Given the description of an element on the screen output the (x, y) to click on. 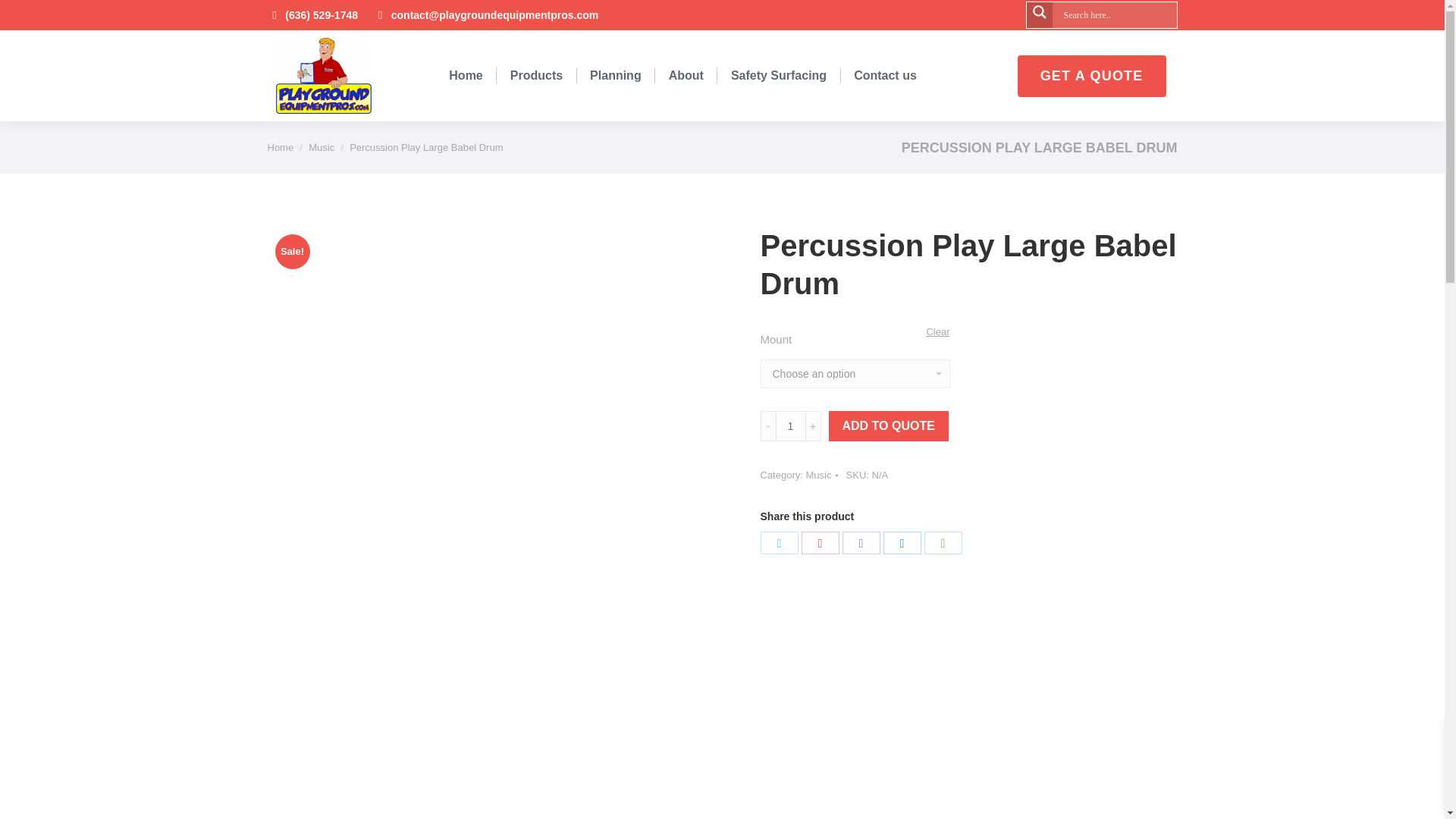
Music (321, 147)
Pinterest (819, 541)
Facebook (860, 541)
LinkedIn (901, 541)
Qty (789, 426)
Twitter (778, 541)
WhatsApp (941, 541)
1 (789, 426)
Home (280, 147)
